Given the description of an element on the screen output the (x, y) to click on. 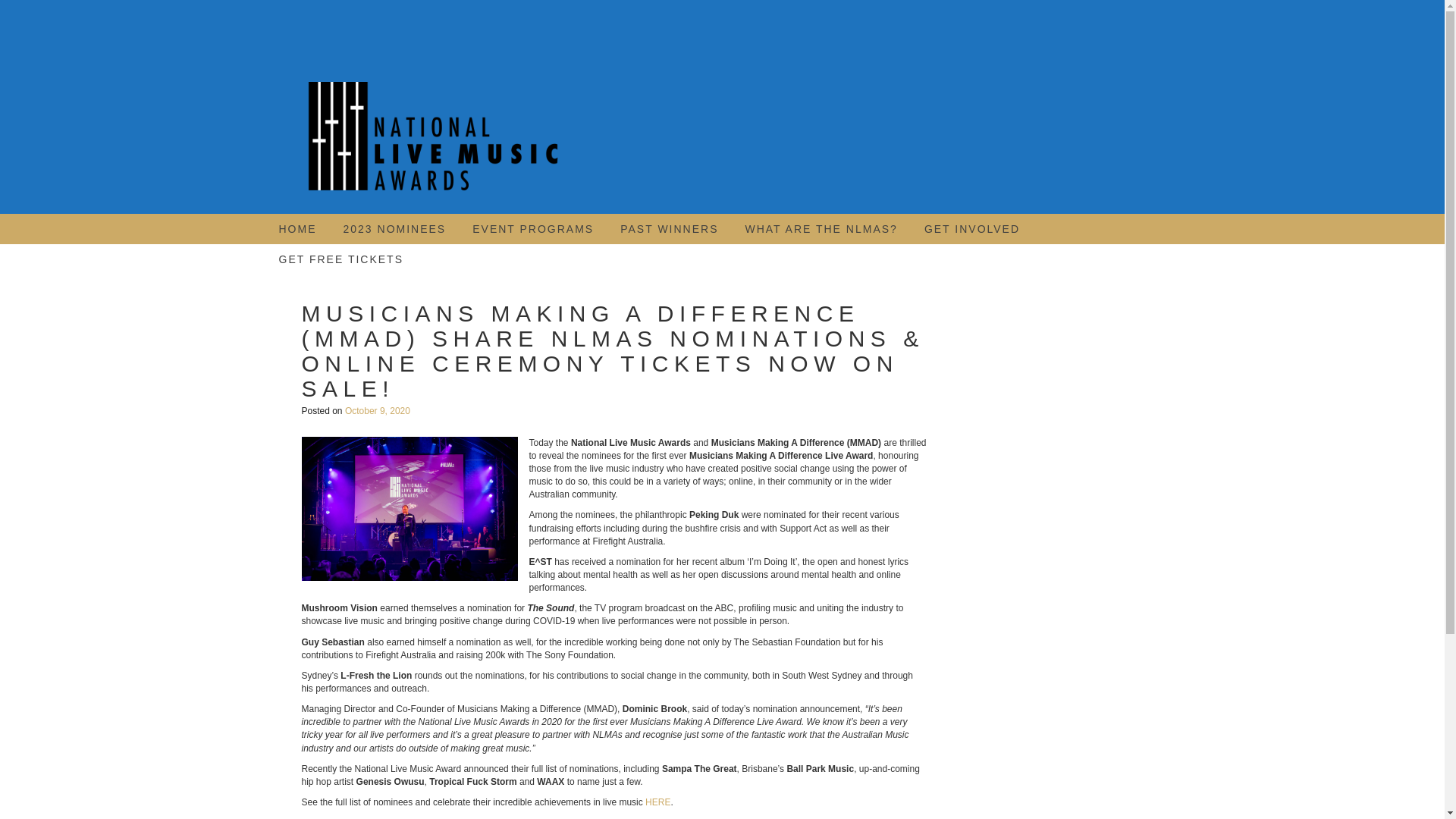
EVENT PROGRAMS (532, 228)
WHAT ARE THE NLMAS? (820, 228)
GET FREE TICKETS (341, 259)
PAST WINNERS (668, 228)
October 9, 2020 (377, 410)
HERE (657, 801)
2023 NOMINEES (393, 228)
GET INVOLVED (972, 228)
HOME (298, 228)
